Given the description of an element on the screen output the (x, y) to click on. 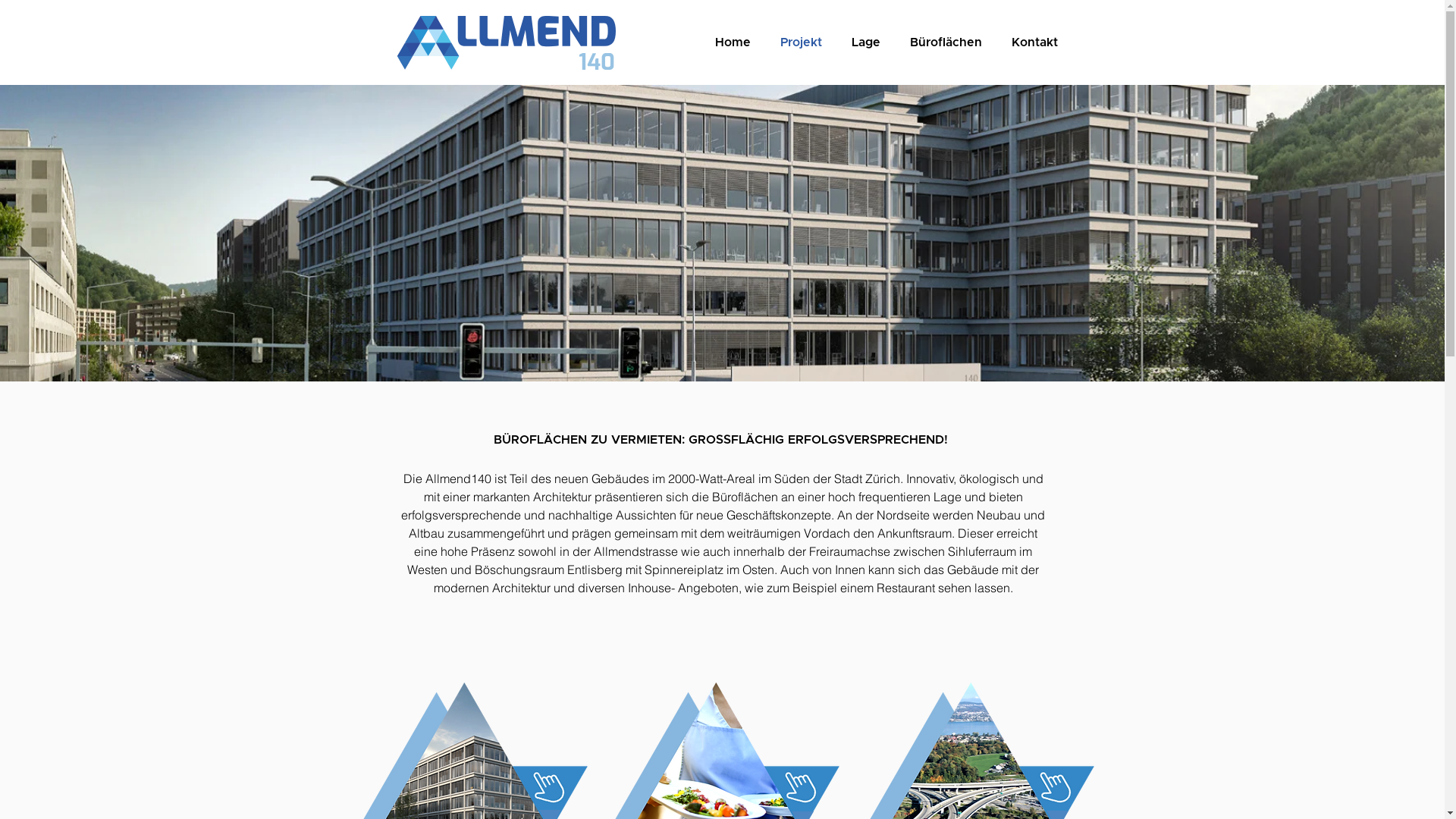
Lage Element type: text (866, 42)
Projekt Element type: text (801, 42)
Home Element type: text (732, 42)
Kontakt Element type: text (1033, 42)
